Given the description of an element on the screen output the (x, y) to click on. 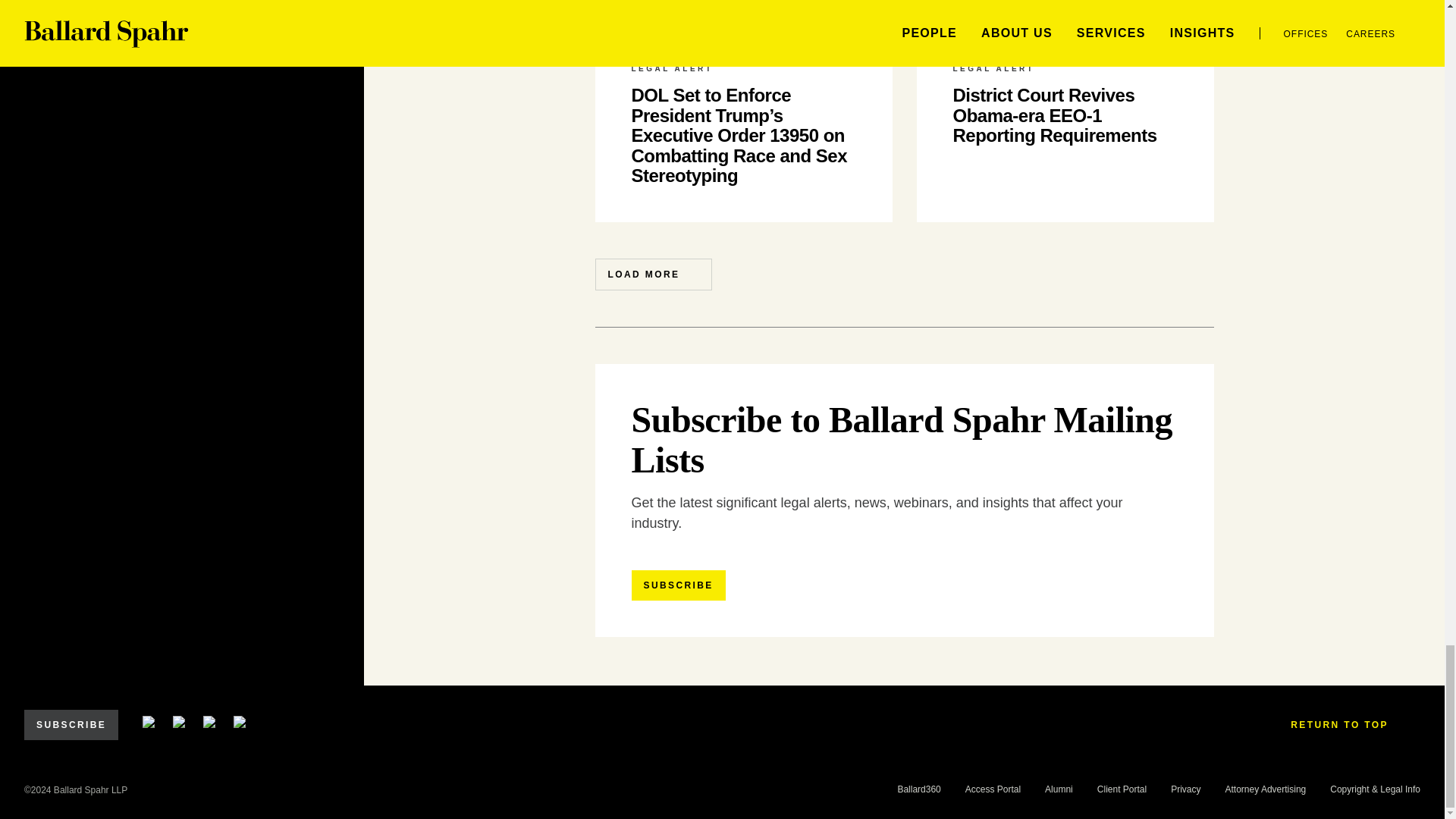
SUBSCRIBE (677, 585)
LOAD MORE (652, 274)
